Given the description of an element on the screen output the (x, y) to click on. 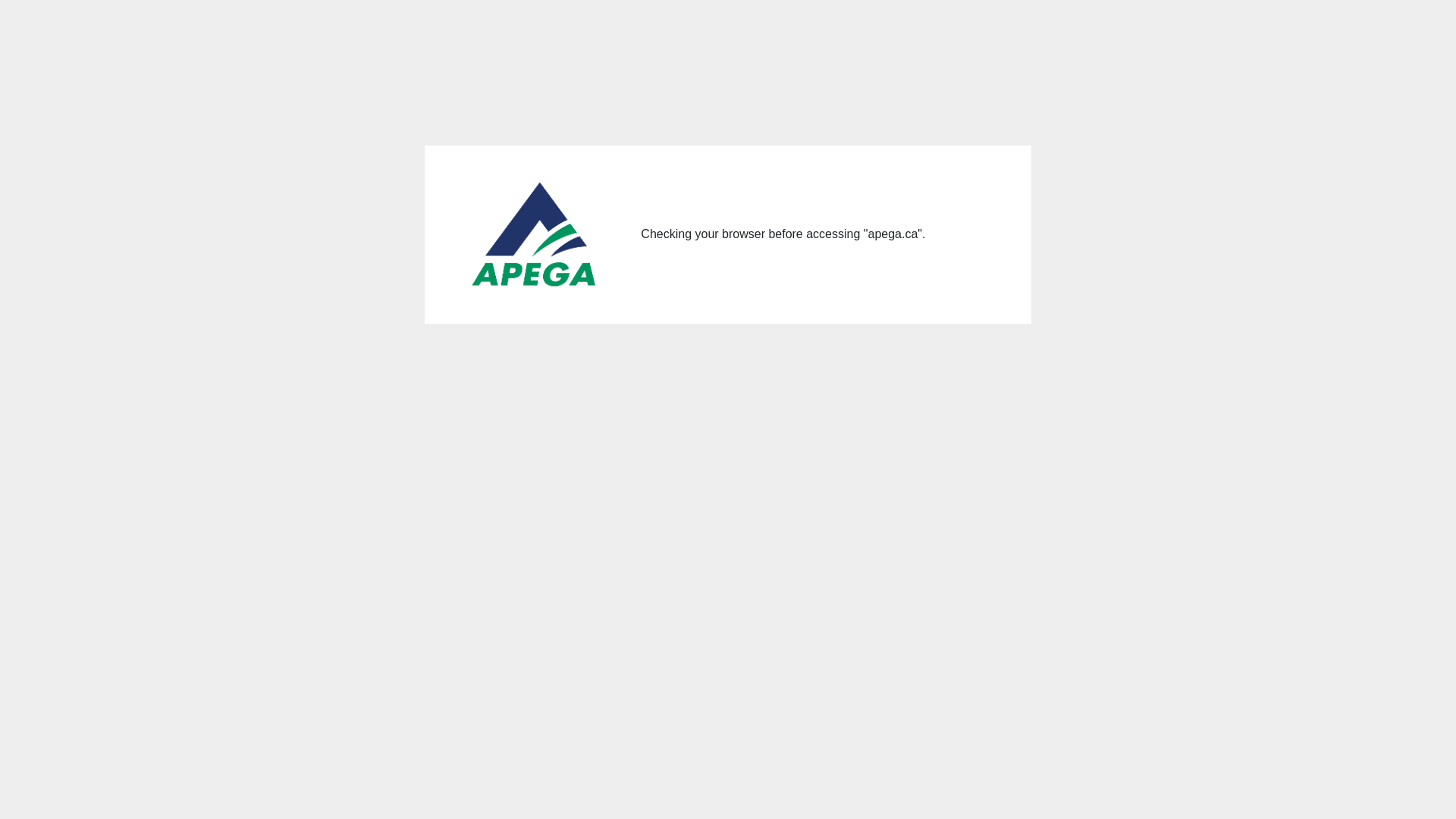
APEGA Element type: hover (535, 234)
